Given the description of an element on the screen output the (x, y) to click on. 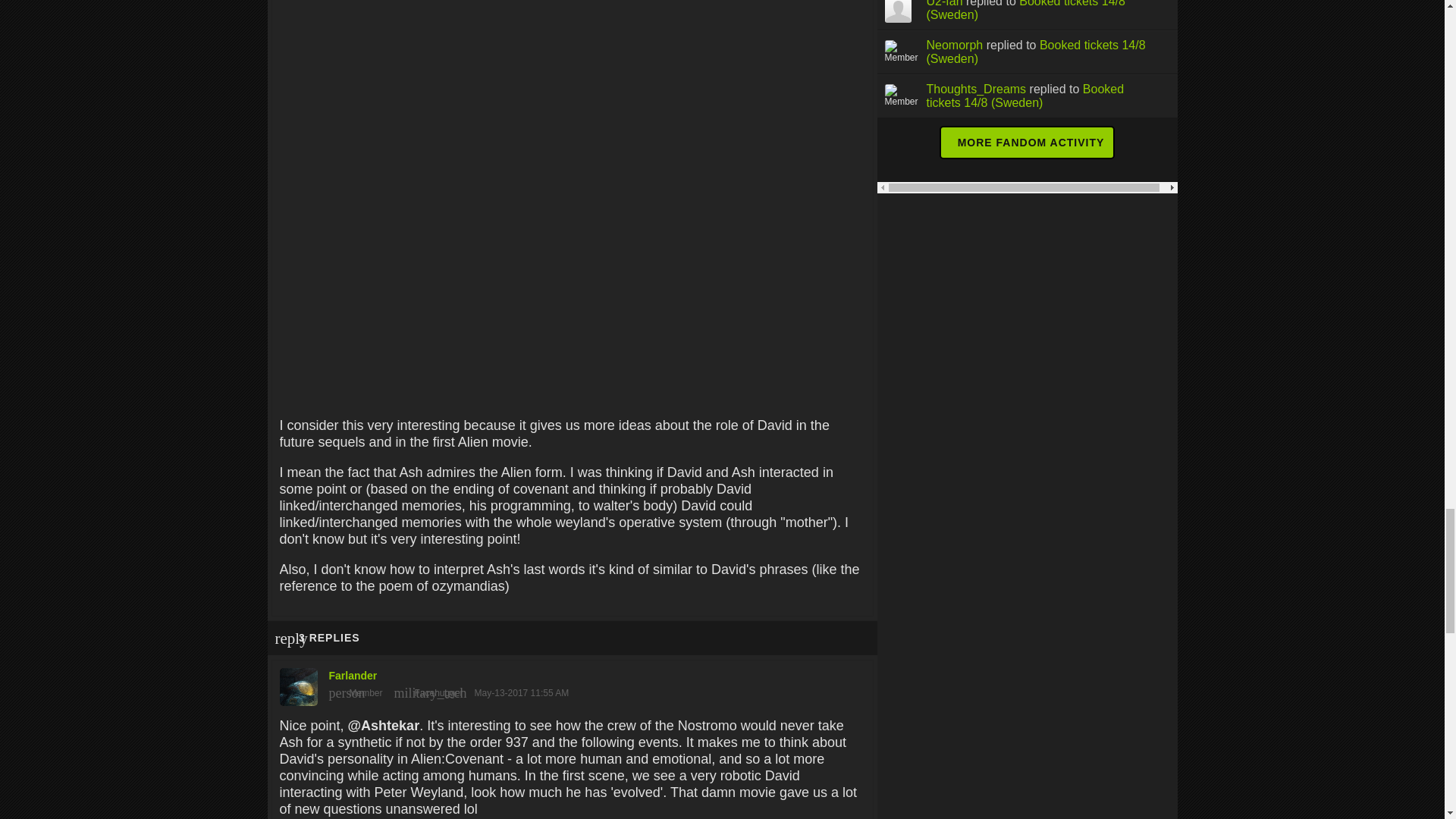
Farlander (571, 683)
